Given the description of an element on the screen output the (x, y) to click on. 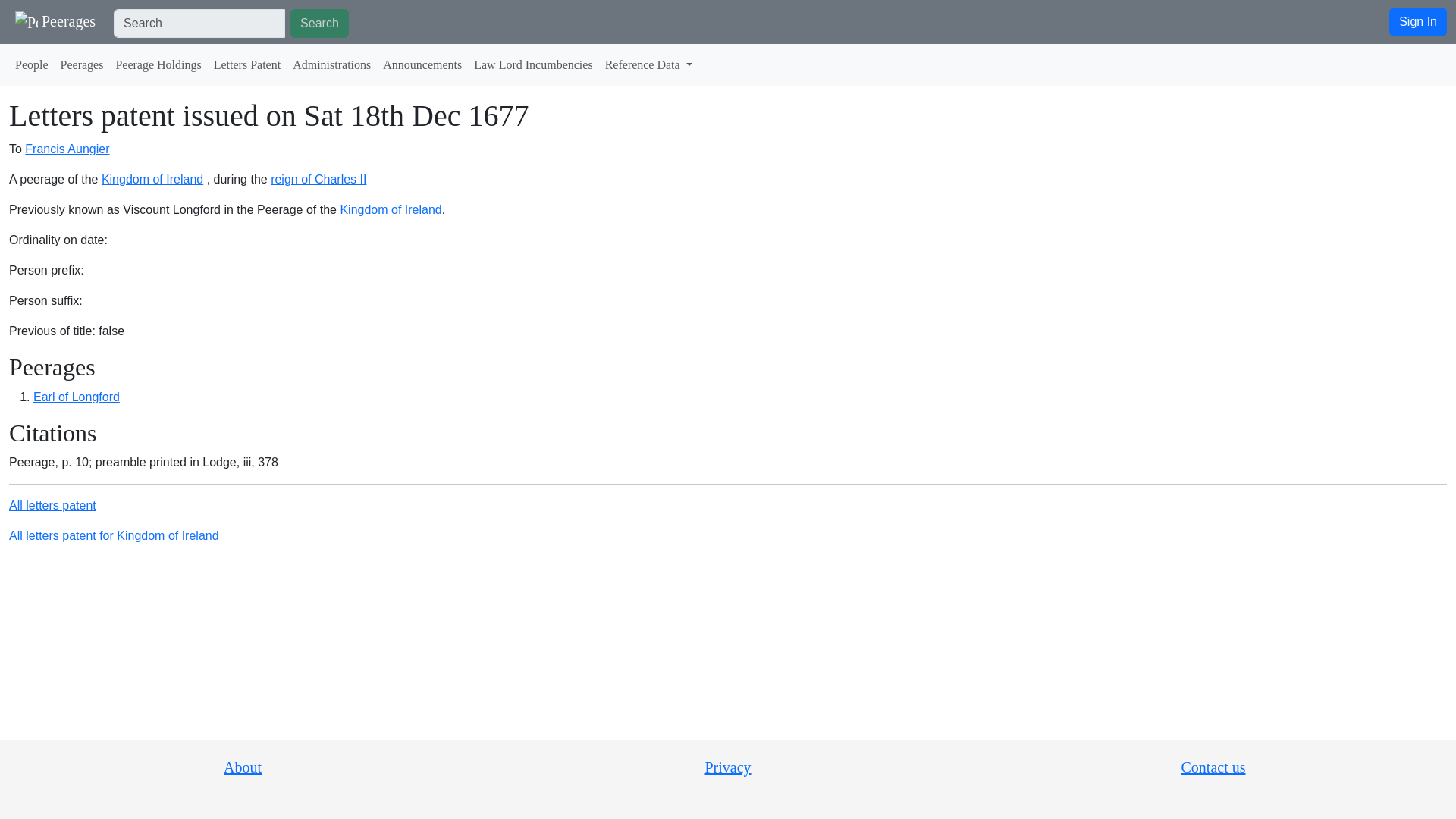
All letters patent for Kingdom of Ireland (113, 535)
Contact us (1213, 767)
Earl of Longford (76, 396)
Peerages (82, 64)
Kingdom of Ireland (390, 209)
Search (319, 23)
Francis Aungier (66, 148)
Announcements (422, 64)
Privacy (727, 767)
reign of Charles II (318, 178)
